Given the description of an element on the screen output the (x, y) to click on. 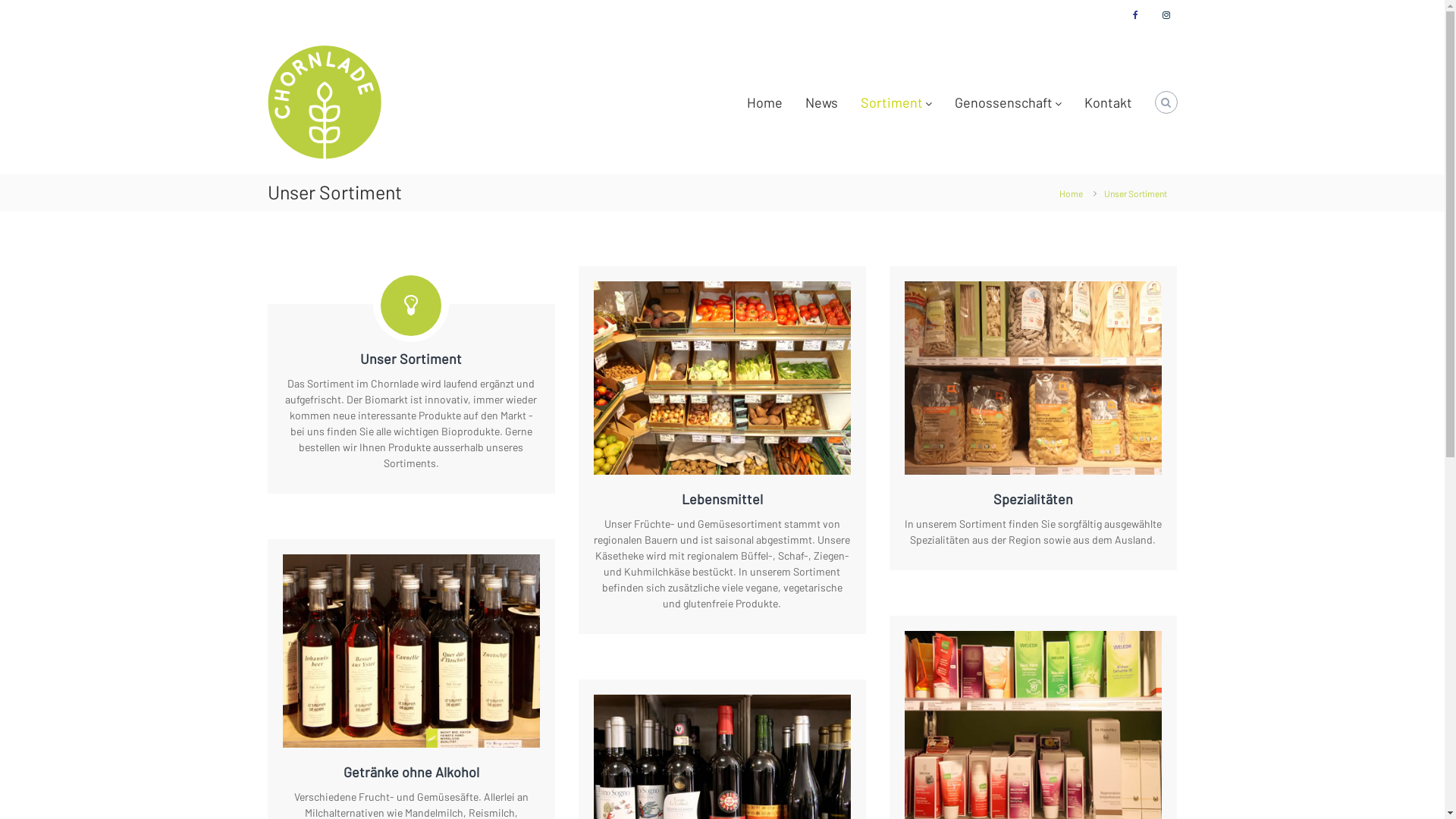
Kontakt Element type: text (1108, 102)
Genossenschaft Element type: text (1002, 102)
Sortiment Element type: text (890, 102)
Facebook Element type: text (1134, 14)
Home Element type: text (763, 102)
Home Element type: text (1070, 192)
News Element type: text (821, 102)
Instagram Element type: text (1165, 14)
